Given the description of an element on the screen output the (x, y) to click on. 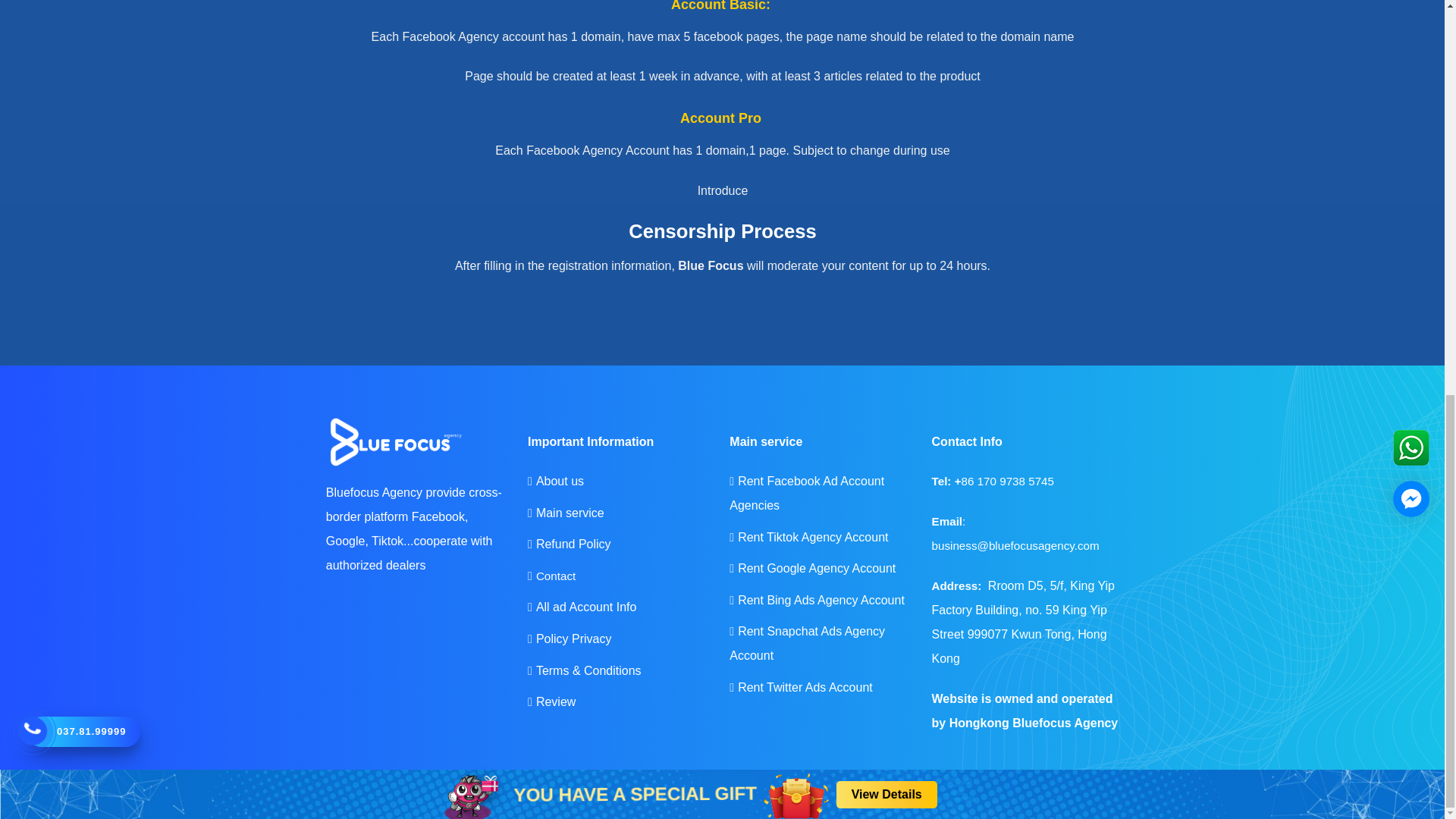
All ad Account Info (586, 606)
About us (559, 481)
Review (555, 701)
Contact (555, 575)
Policy Privacy (573, 638)
Main service (569, 512)
Refund Policy (573, 543)
